Given the description of an element on the screen output the (x, y) to click on. 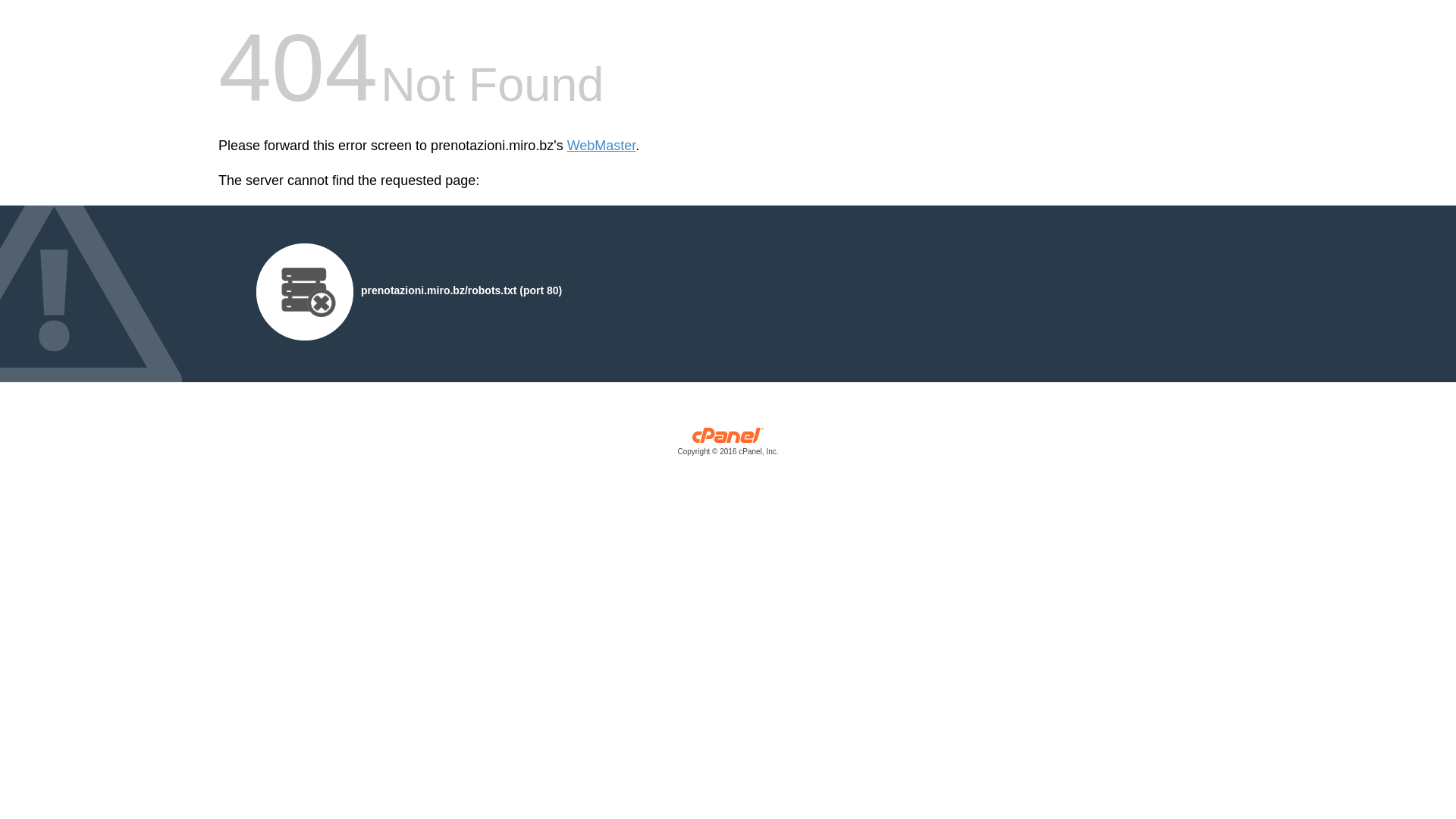
WebMaster Element type: text (601, 145)
